Given the description of an element on the screen output the (x, y) to click on. 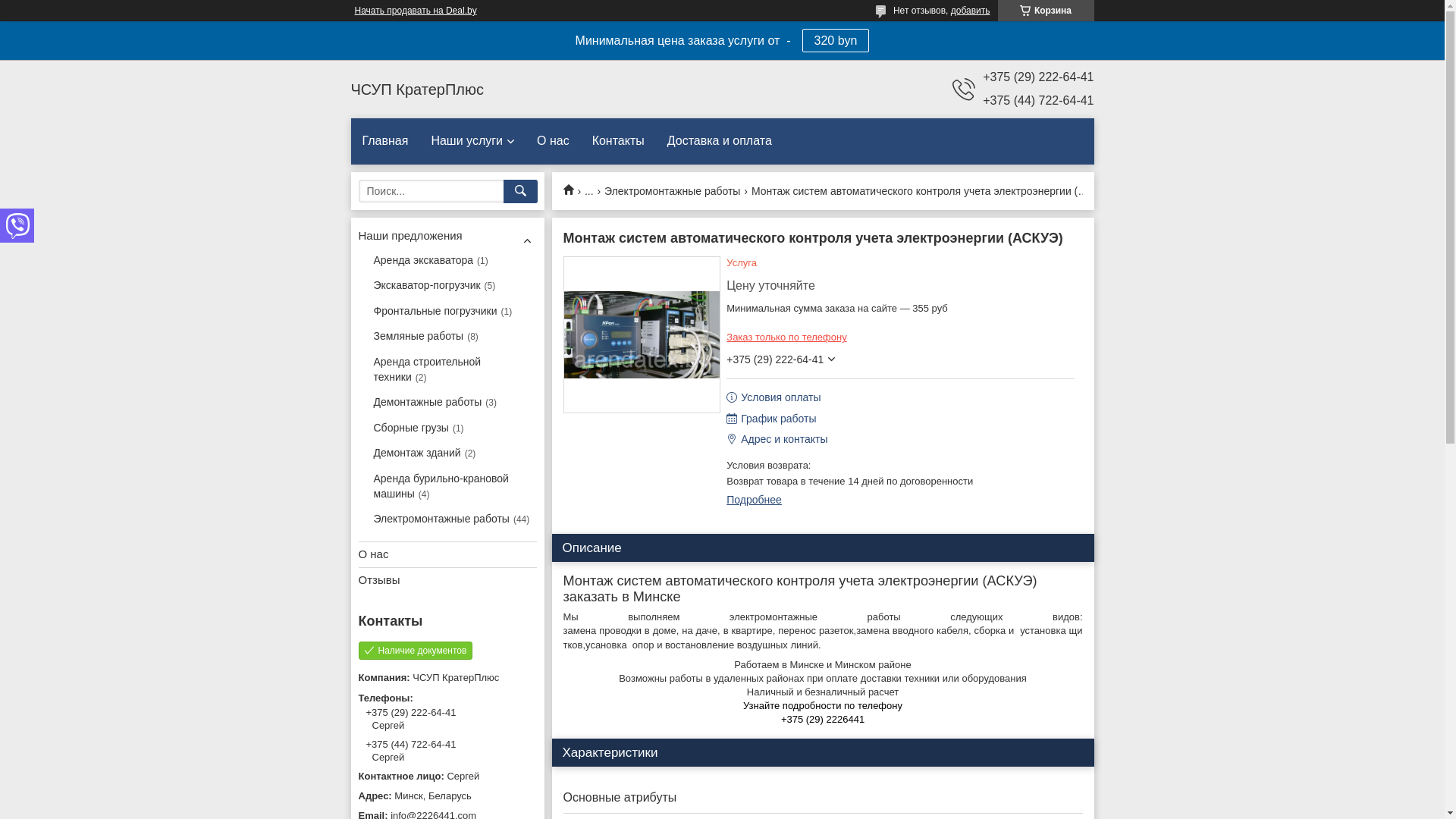
320 byn Element type: text (835, 40)
